Given the description of an element on the screen output the (x, y) to click on. 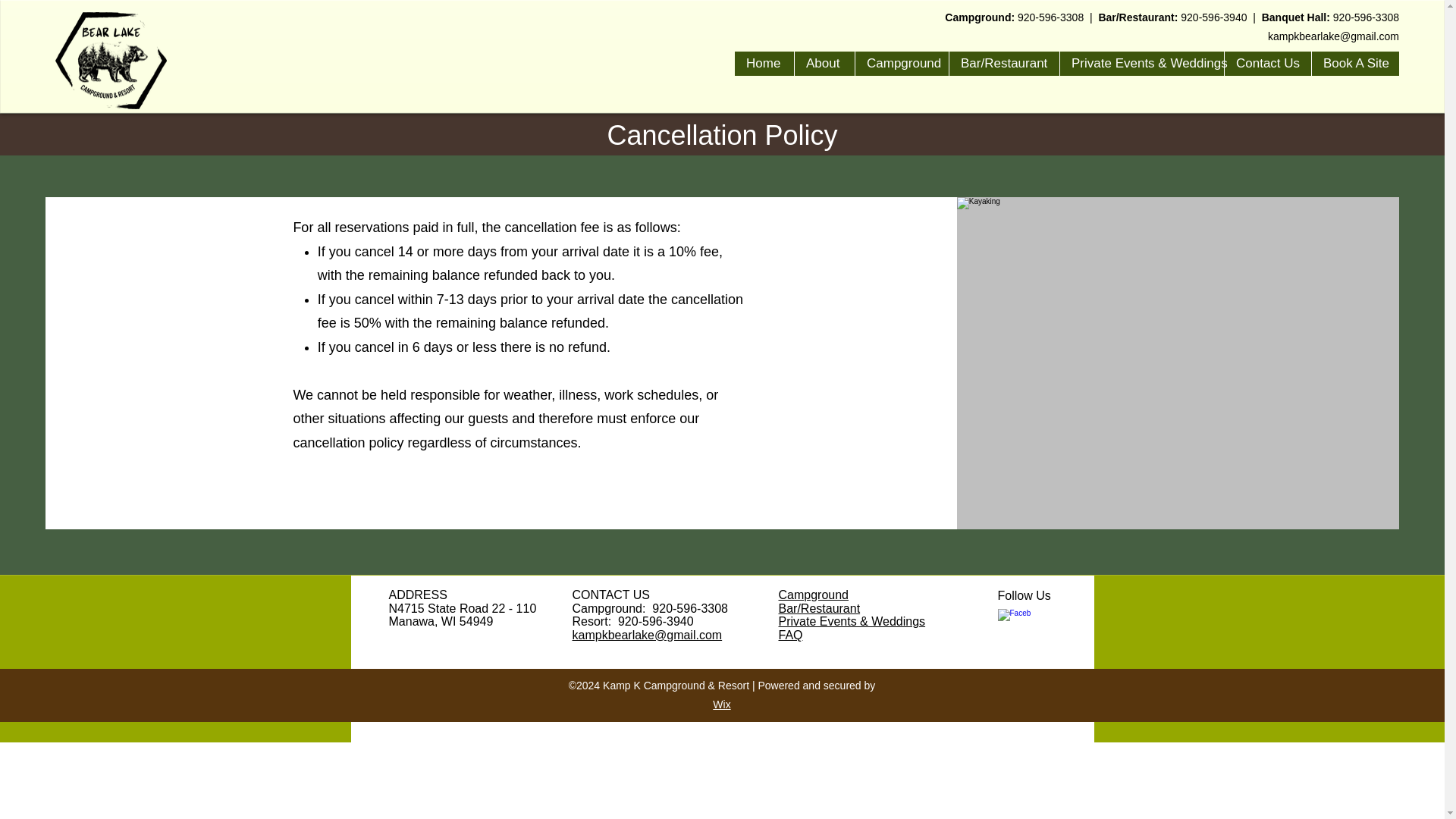
Home (764, 63)
Book A Site (1355, 63)
Campground (812, 594)
FAQ (789, 634)
Wix (721, 704)
Bear Lake.jpg (111, 60)
